Given the description of an element on the screen output the (x, y) to click on. 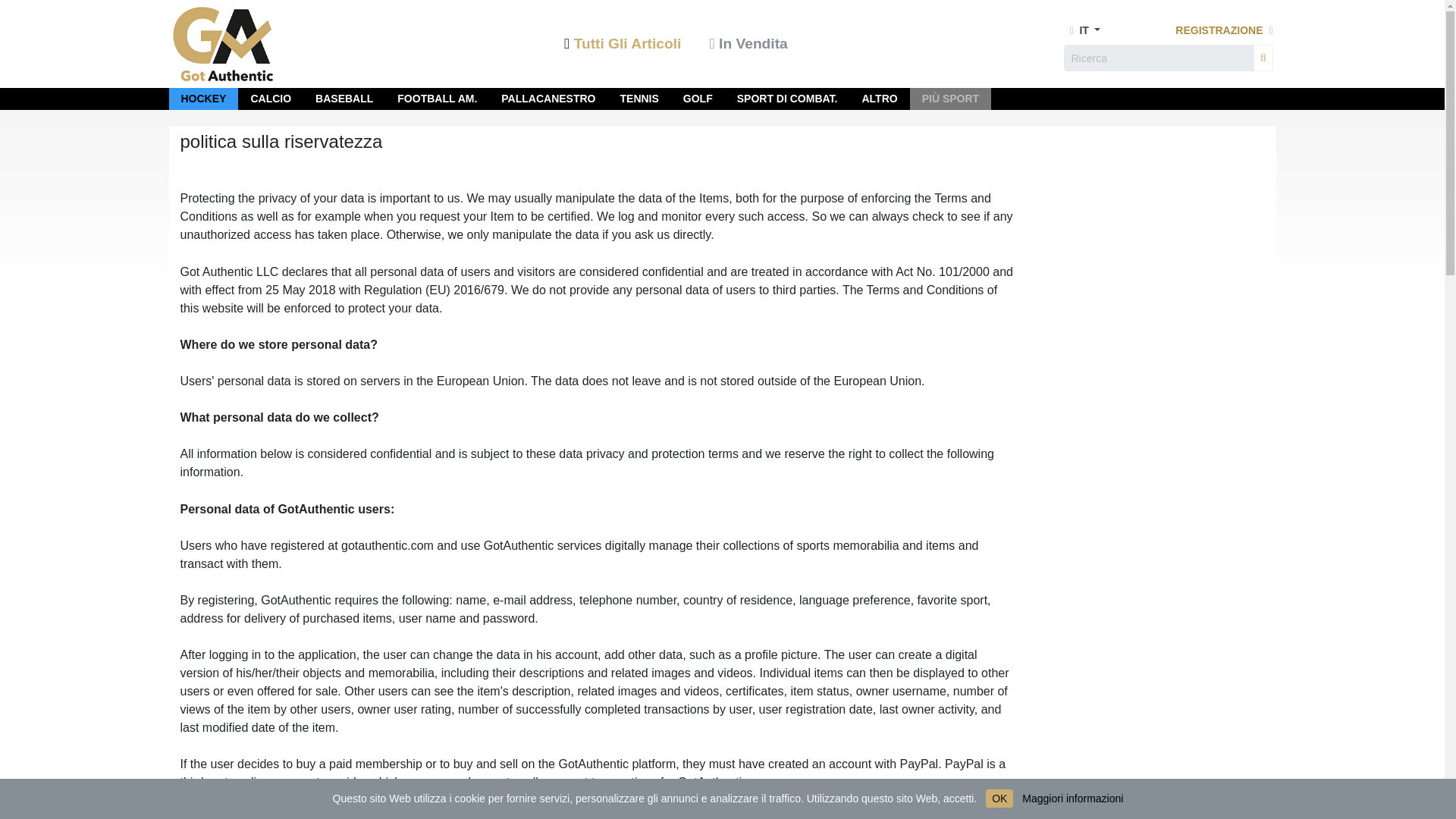
Tutti Gli Articoli (624, 45)
  IT (1081, 30)
In Vendita (748, 45)
ALTRO (878, 98)
HOCKEY (202, 98)
PALLACANESTRO (547, 98)
CALCIO (270, 98)
SPORT DI COMBAT. (787, 98)
GOLF (697, 98)
Registrazione (1223, 30)
